Given the description of an element on the screen output the (x, y) to click on. 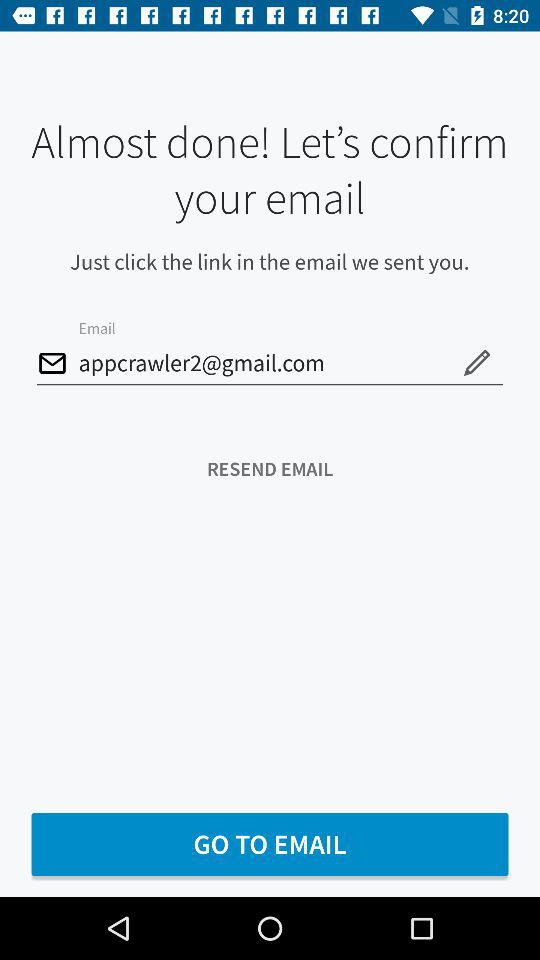
launch the icon above the resend email icon (269, 363)
